Given the description of an element on the screen output the (x, y) to click on. 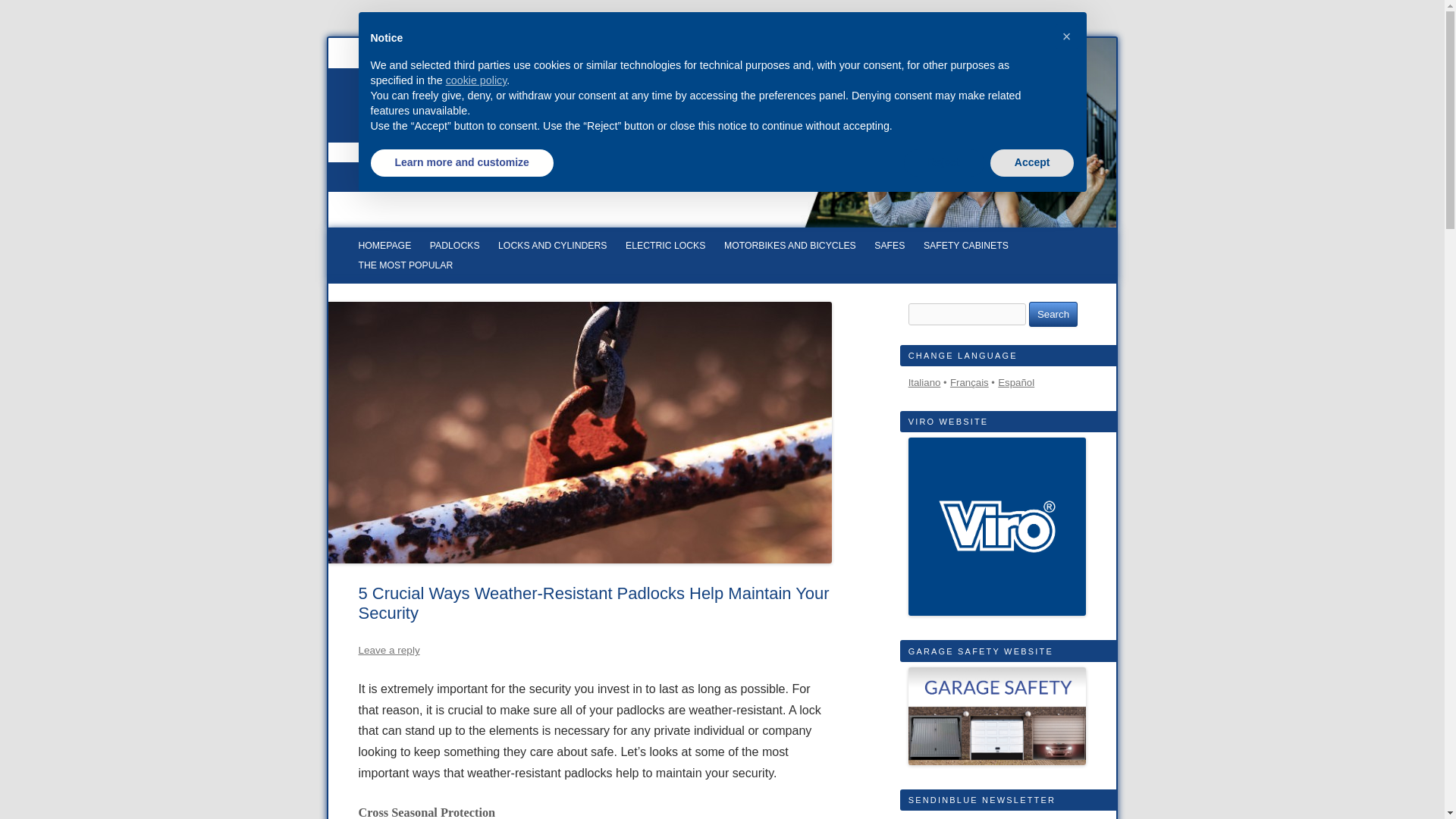
THE MOST POPULAR (405, 266)
Leave a reply (388, 650)
Search (1053, 314)
Security Club (589, 104)
ELECTRIC LOCKS (665, 246)
LOCKS AND CYLINDERS (552, 246)
Skip to content (758, 235)
Search (1053, 314)
MOTORBIKES AND BICYCLES (789, 246)
HOMEPAGE (384, 246)
SAFES (889, 246)
PADLOCKS (454, 246)
Skip to content (758, 235)
SAFETY CABINETS (966, 246)
Viro Security Club (589, 104)
